Given the description of an element on the screen output the (x, y) to click on. 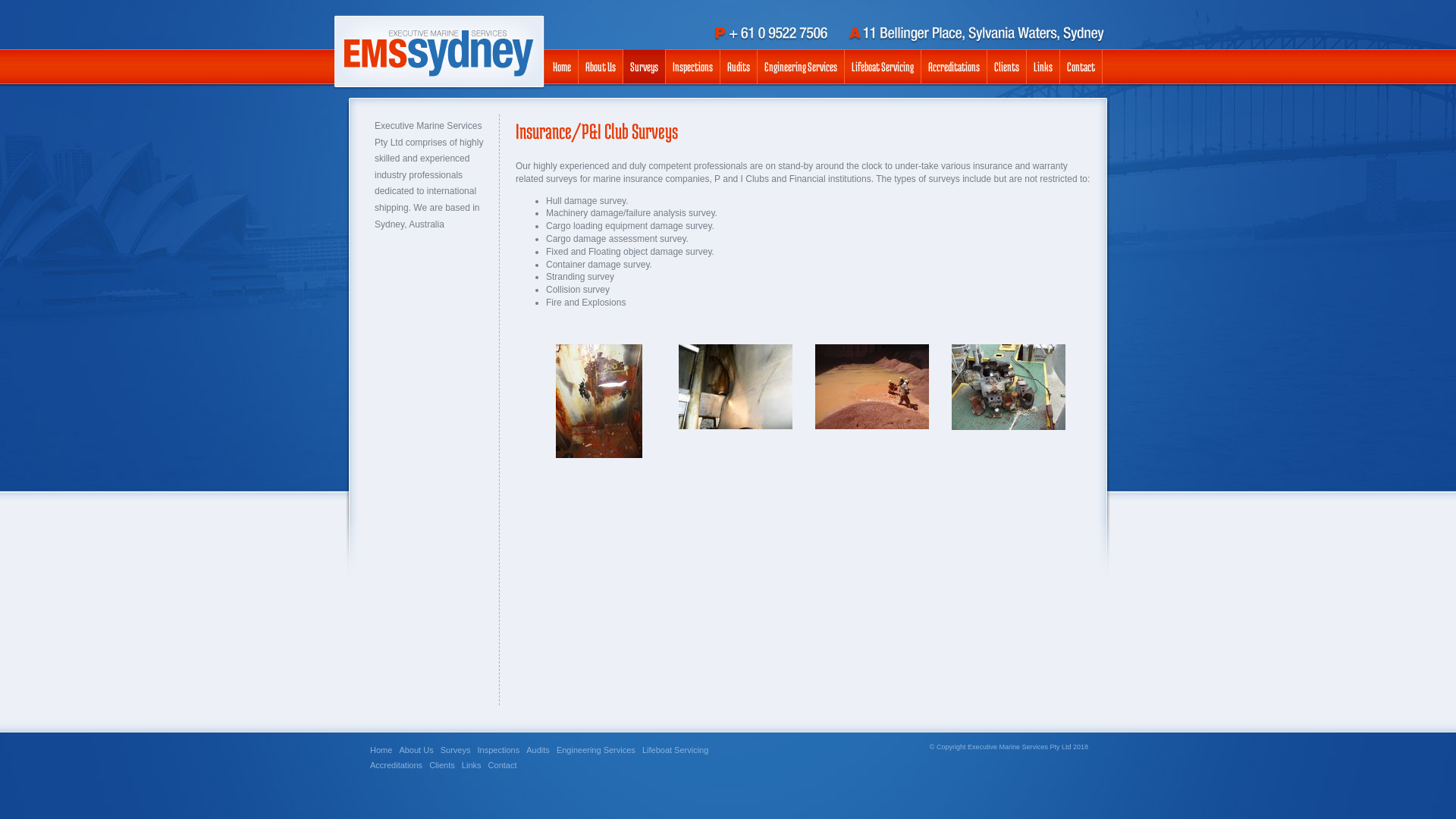
Engineering Services Element type: text (595, 749)
Links Element type: text (471, 764)
Accreditations Element type: text (954, 66)
Accreditations Element type: text (395, 764)
Audits Element type: text (738, 66)
Surveys Element type: text (455, 749)
Inspections Element type: text (692, 66)
Clients Element type: text (1006, 66)
Home Element type: text (380, 749)
Inspections Element type: text (498, 749)
Audits Element type: text (538, 749)
Lifeboat Servicing Element type: text (882, 66)
Contact Element type: text (1081, 66)
About Us Element type: text (415, 749)
Lifeboat Servicing Element type: text (675, 749)
Home Element type: text (562, 66)
Surveys Element type: text (644, 66)
Engineering Services Element type: text (800, 66)
Clients Element type: text (441, 764)
Contact Element type: text (502, 764)
About Us Element type: text (600, 66)
Links Element type: text (1043, 66)
